Given the description of an element on the screen output the (x, y) to click on. 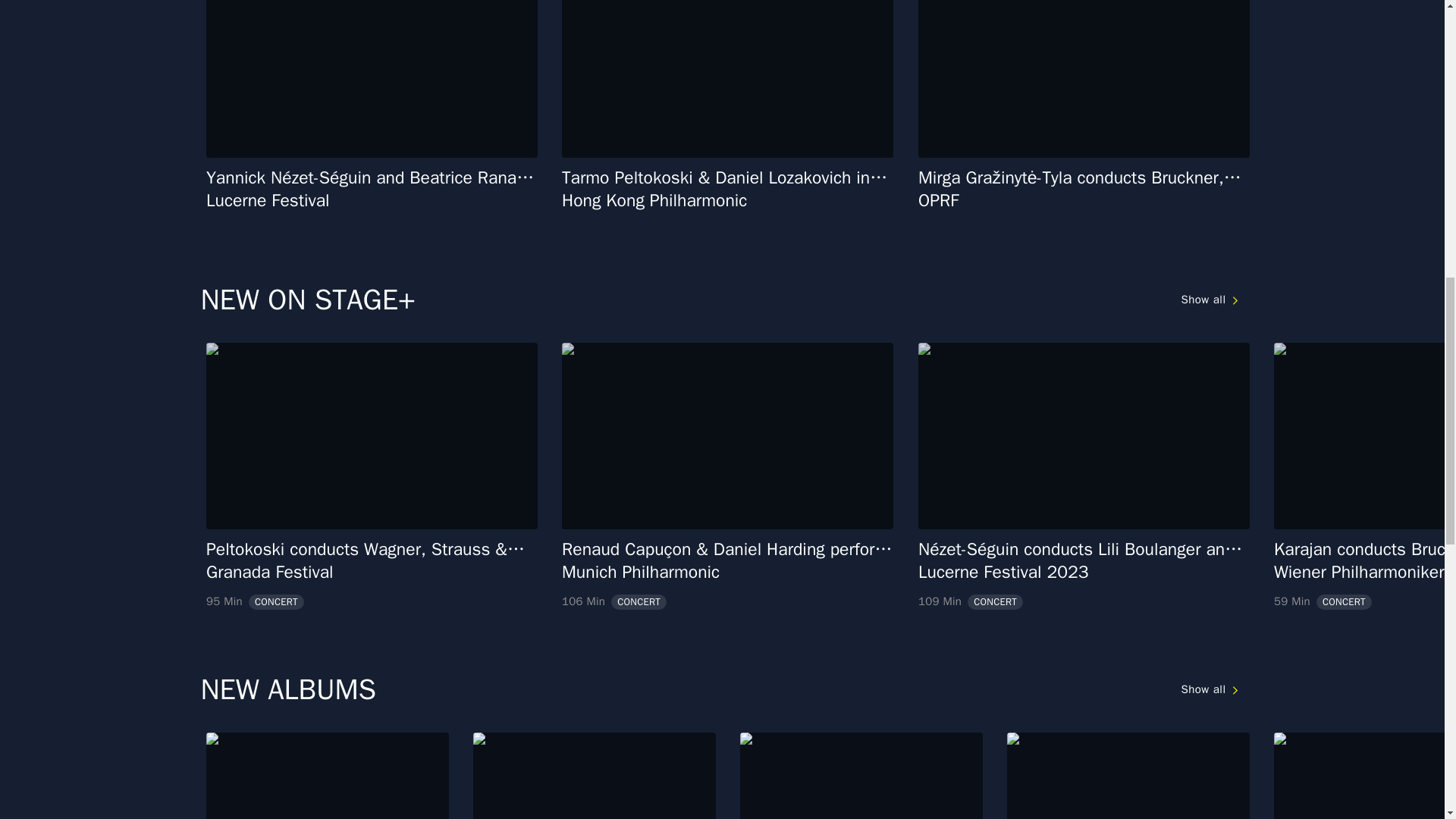
Show all (327, 775)
NEW ALBUMS (594, 775)
Show all (1211, 689)
